Given the description of an element on the screen output the (x, y) to click on. 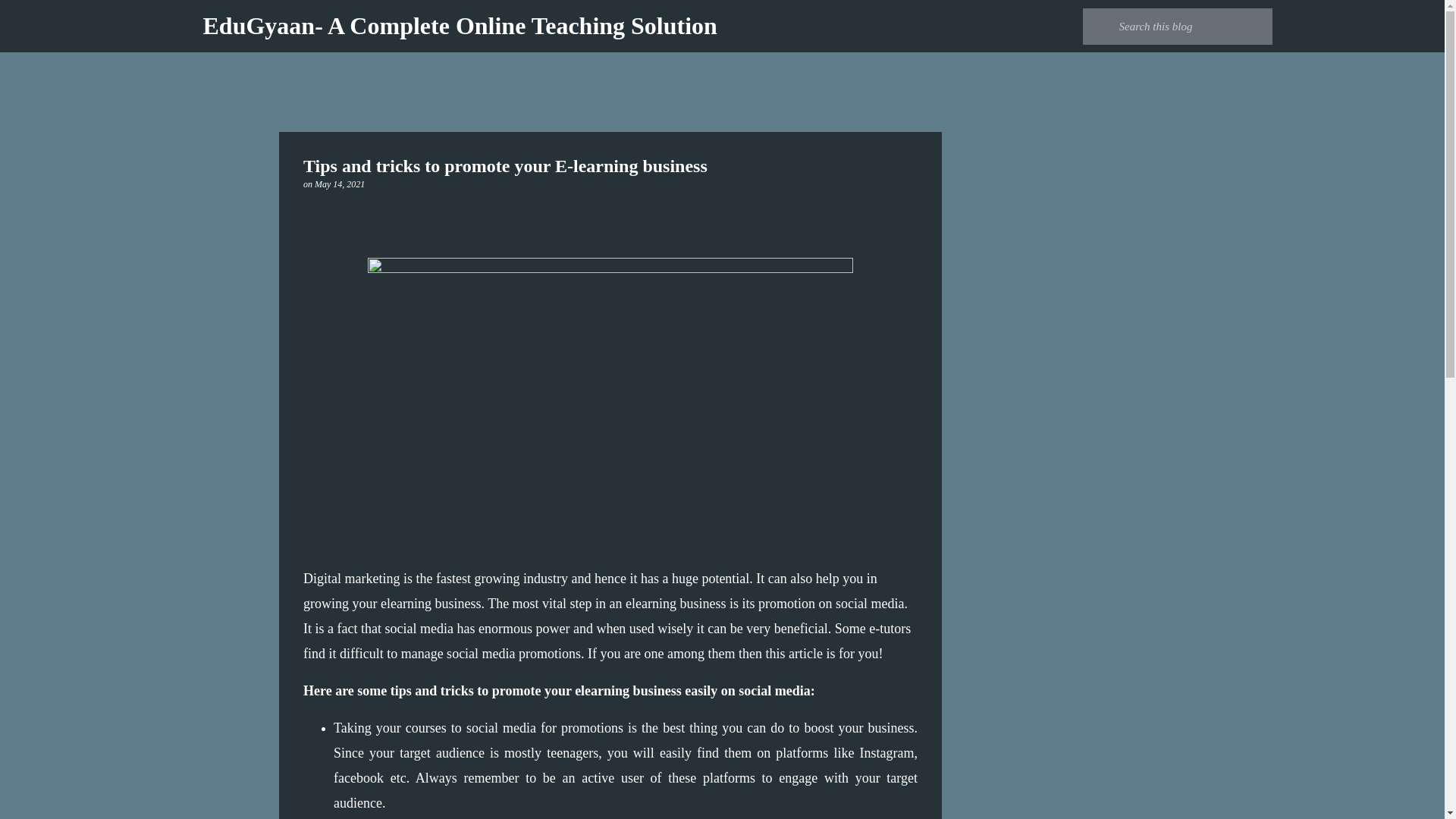
May 14, 2021 (339, 184)
EduGyaan- A Complete Online Teaching Solution (460, 25)
permanent link (339, 184)
